Given the description of an element on the screen output the (x, y) to click on. 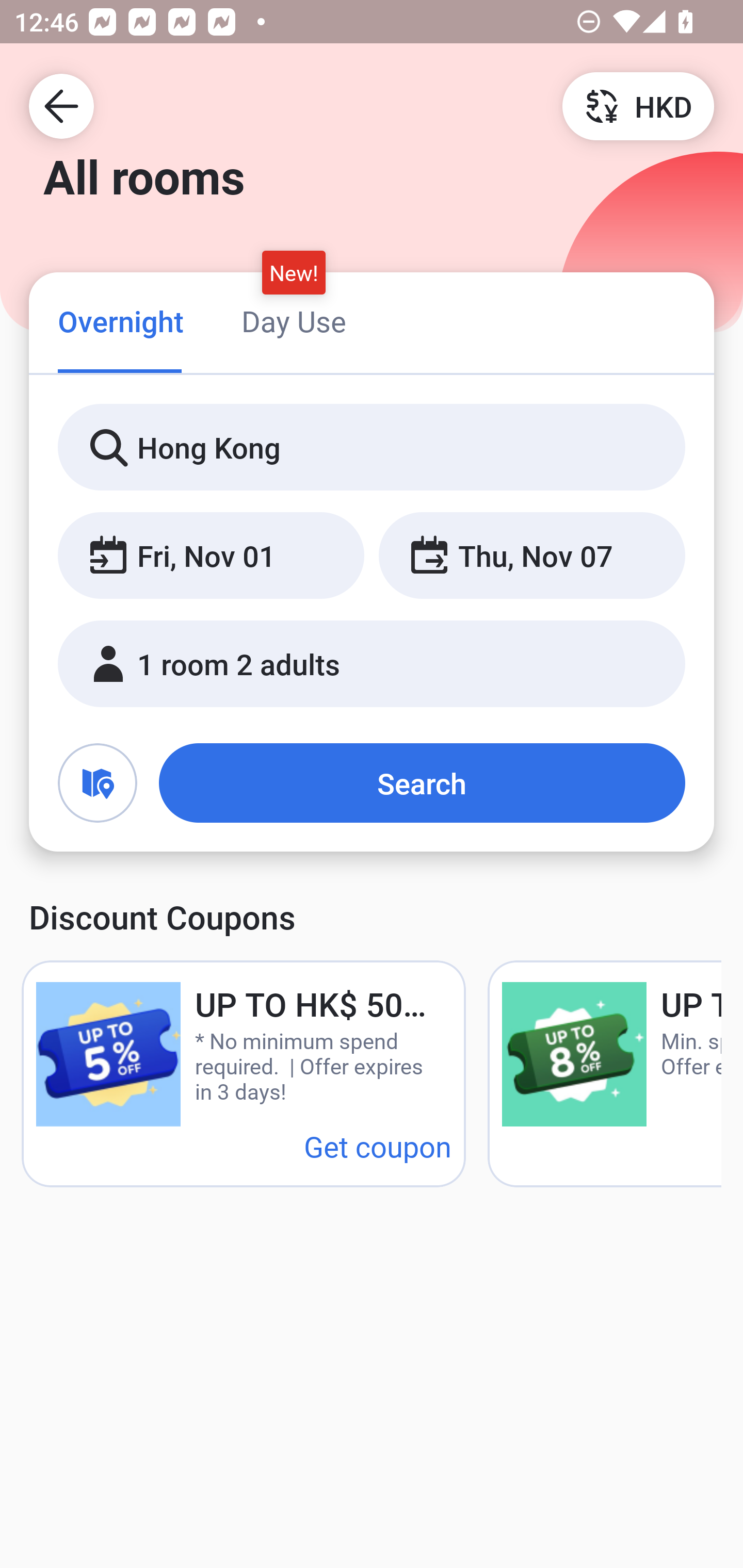
HKD (638, 105)
New! (294, 272)
Day Use (293, 321)
Hong Kong (371, 447)
Fri, Nov 01 (210, 555)
Thu, Nov 07 (531, 555)
1 room 2 adults (371, 663)
Search (422, 783)
Get coupon (377, 1146)
